Given the description of an element on the screen output the (x, y) to click on. 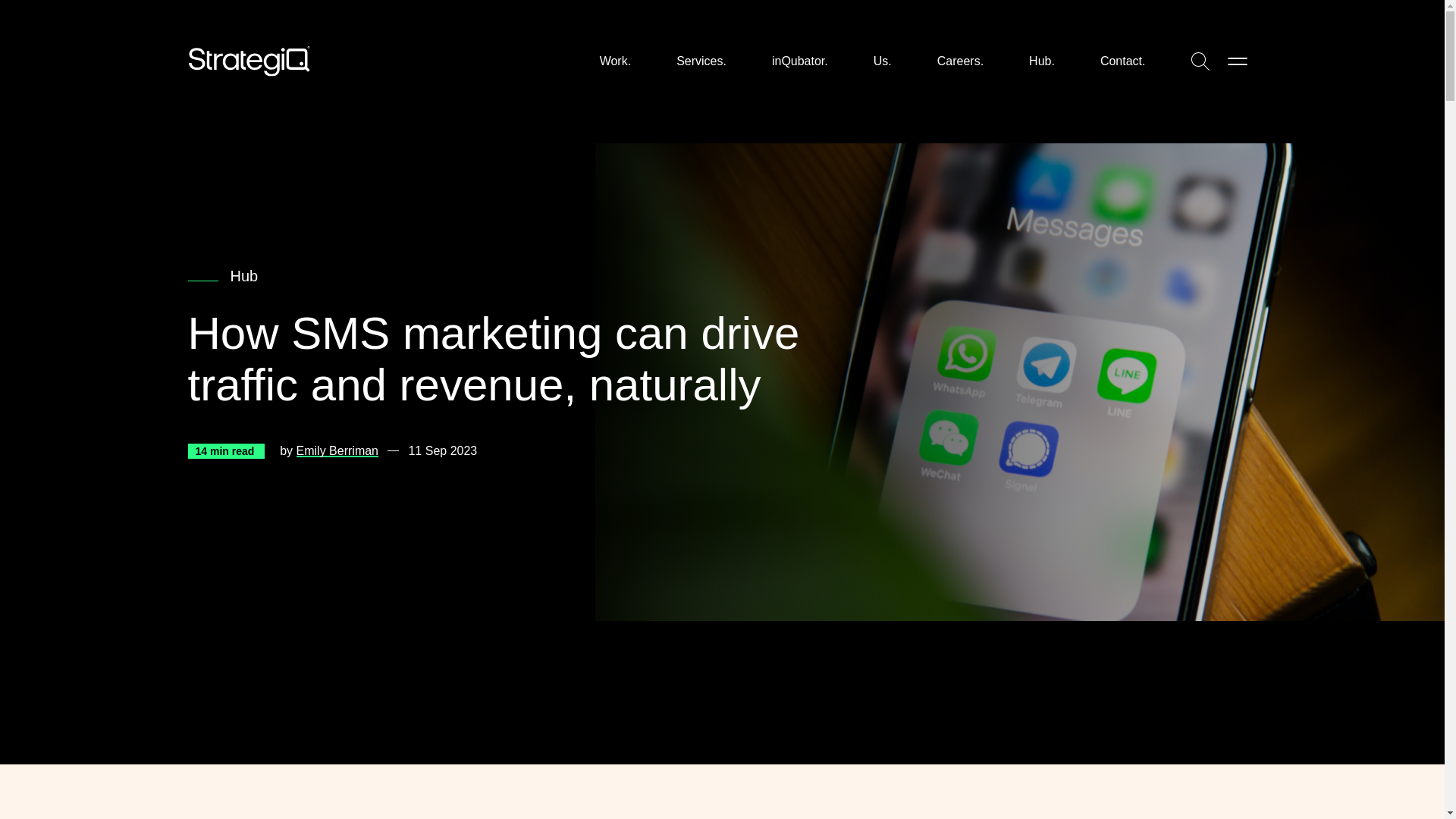
Menu toggle (1236, 61)
Careers. (960, 60)
Us. (882, 60)
Work. (614, 60)
Hub. (1041, 60)
Emily Berriman (337, 450)
Services. (701, 60)
Open site search (1199, 61)
Contact. (1122, 60)
inQubator. (799, 60)
